Given the description of an element on the screen output the (x, y) to click on. 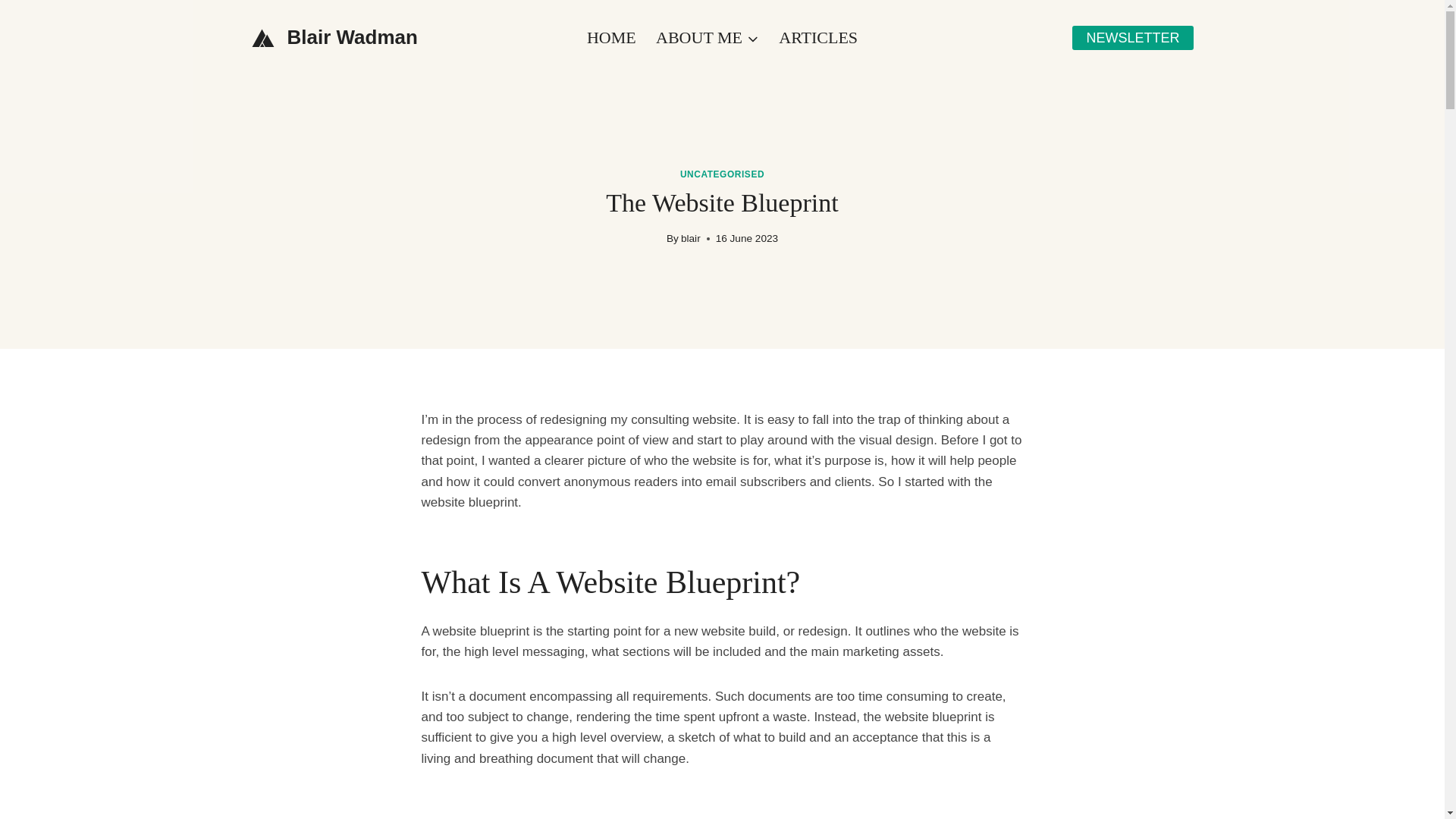
UNCATEGORISED (721, 173)
blair (690, 238)
Blair Wadman (334, 37)
ARTICLES (817, 37)
HOME (611, 37)
ABOUT ME (707, 37)
NEWSLETTER (1131, 37)
